Given the description of an element on the screen output the (x, y) to click on. 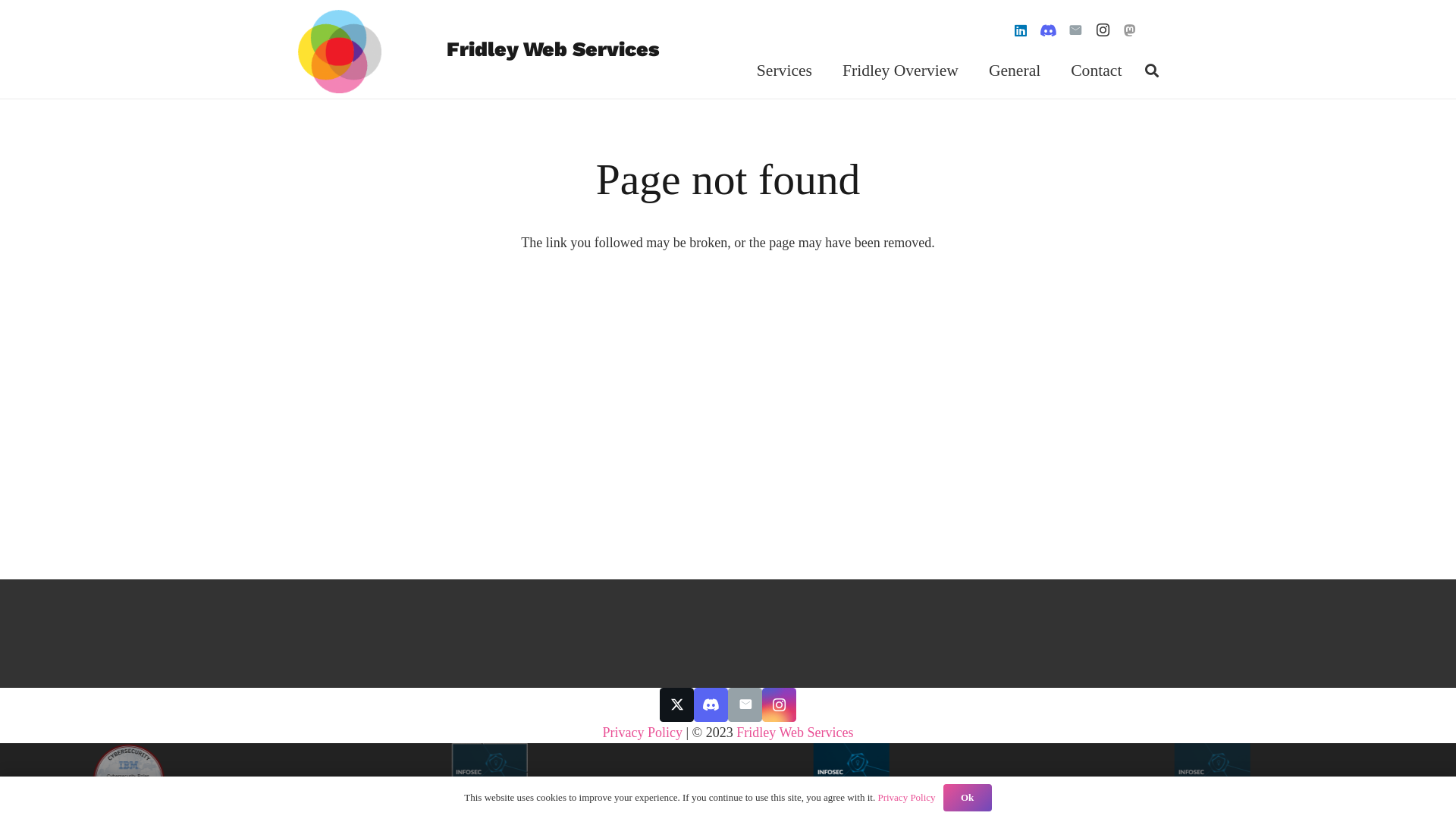
Twitter Element type: hover (676, 704)
Contact Element type: text (1095, 70)
Ok Element type: text (967, 797)
Discord Element type: hover (1047, 29)
Email Element type: hover (1074, 29)
Email Element type: hover (745, 704)
Discord Element type: hover (710, 704)
Privacy Policy Element type: text (642, 732)
Fridley Web Services Element type: text (794, 732)
Instagram Element type: hover (1102, 29)
LinkedIn Element type: hover (1020, 29)
General Element type: text (1014, 70)
Privacy Policy Element type: text (906, 797)
Fridley Overview Element type: text (900, 70)
Mastodon Element type: hover (1129, 29)
Instagram Element type: hover (779, 704)
Services Element type: text (784, 70)
